Given the description of an element on the screen output the (x, y) to click on. 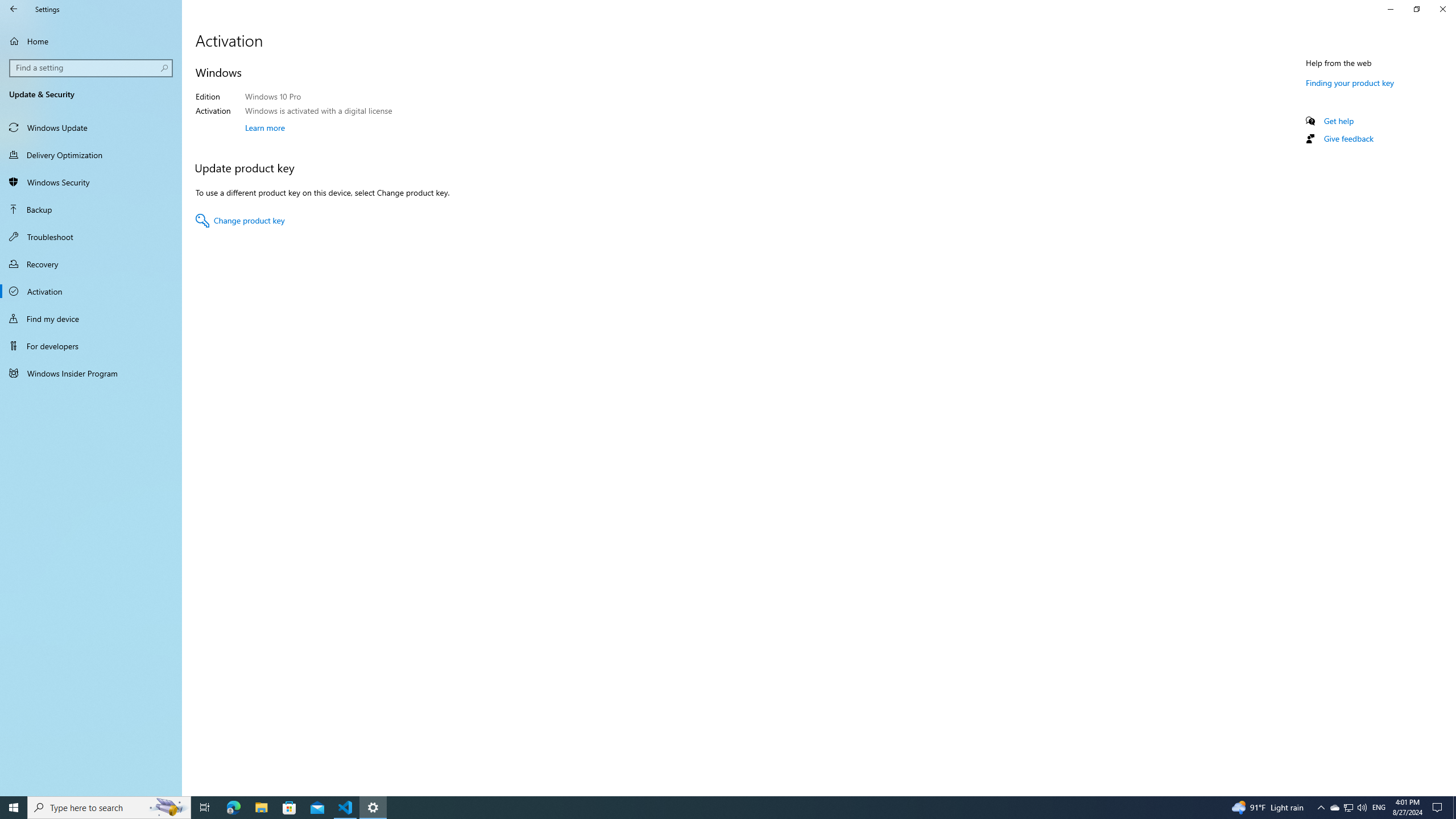
Windows Update (91, 126)
Troubleshoot (91, 236)
Finding your product key (1349, 82)
Windows Insider Program (91, 372)
